Given the description of an element on the screen output the (x, y) to click on. 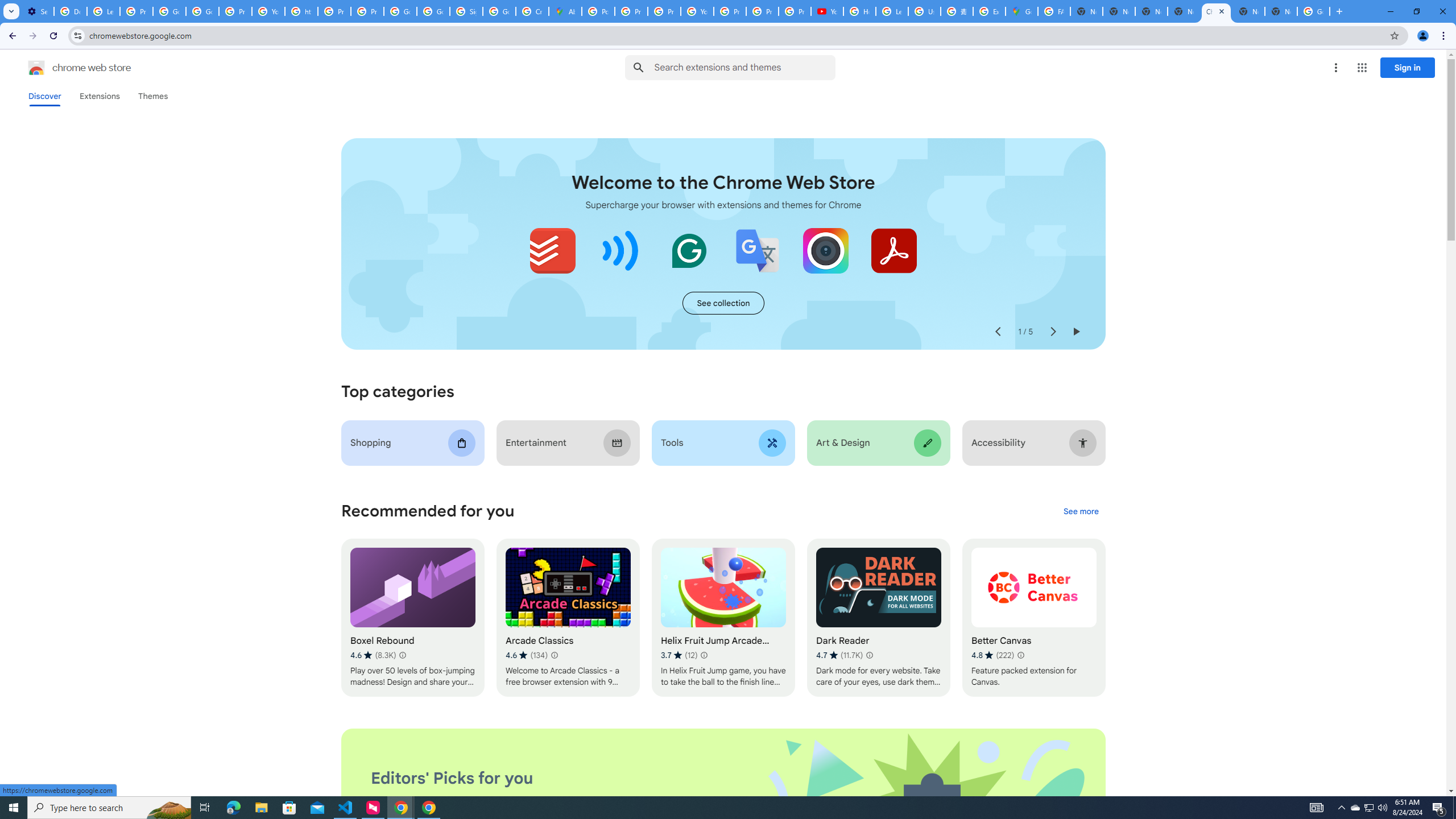
Settings - On startup (37, 11)
YouTube (827, 11)
Awesome Screen Recorder & Screenshot (825, 250)
Previous slide (997, 331)
Boxel Rebound (412, 617)
